Given the description of an element on the screen output the (x, y) to click on. 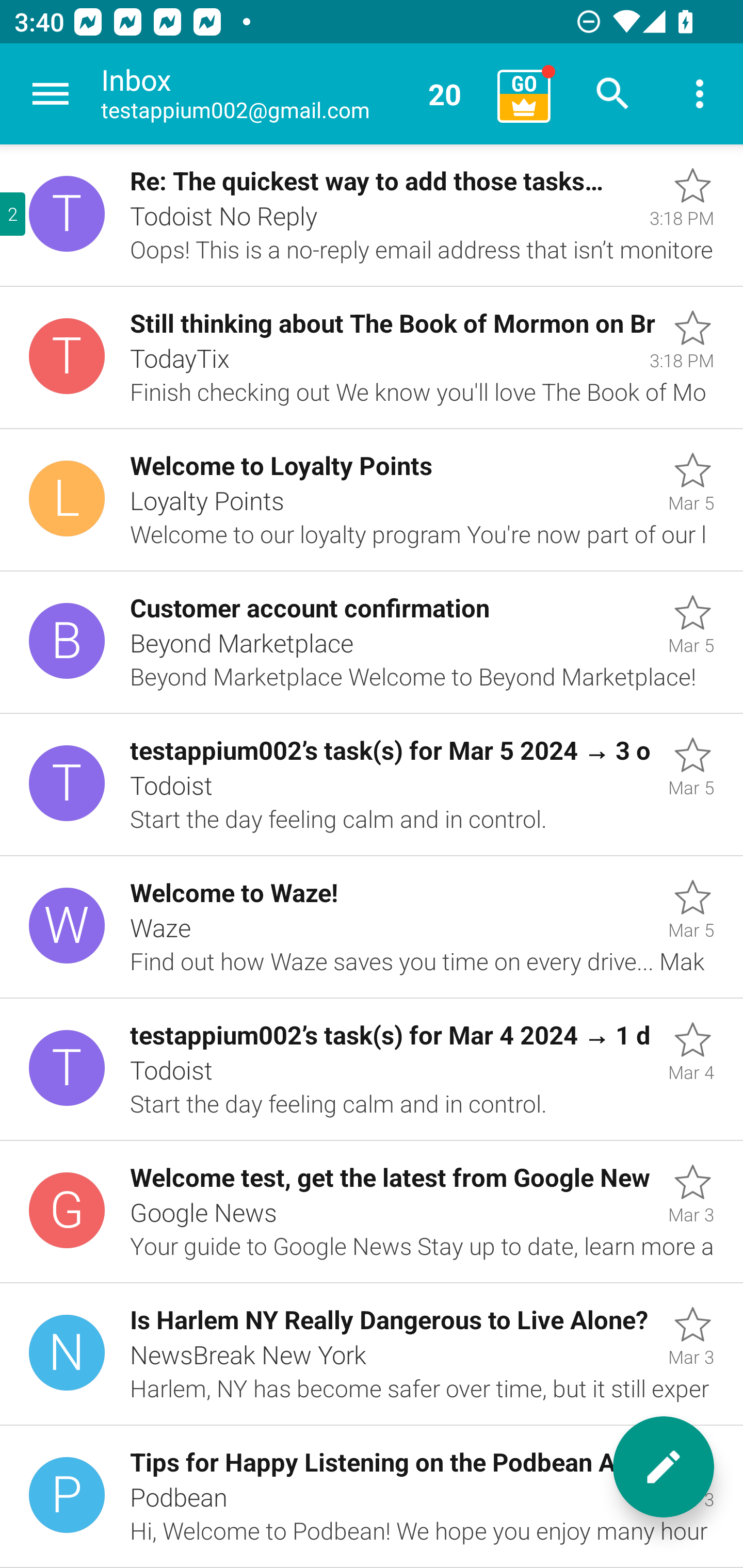
Navigate up (50, 93)
Inbox testappium002@gmail.com 20 (291, 93)
Search (612, 93)
More options (699, 93)
New message (663, 1466)
